Given the description of an element on the screen output the (x, y) to click on. 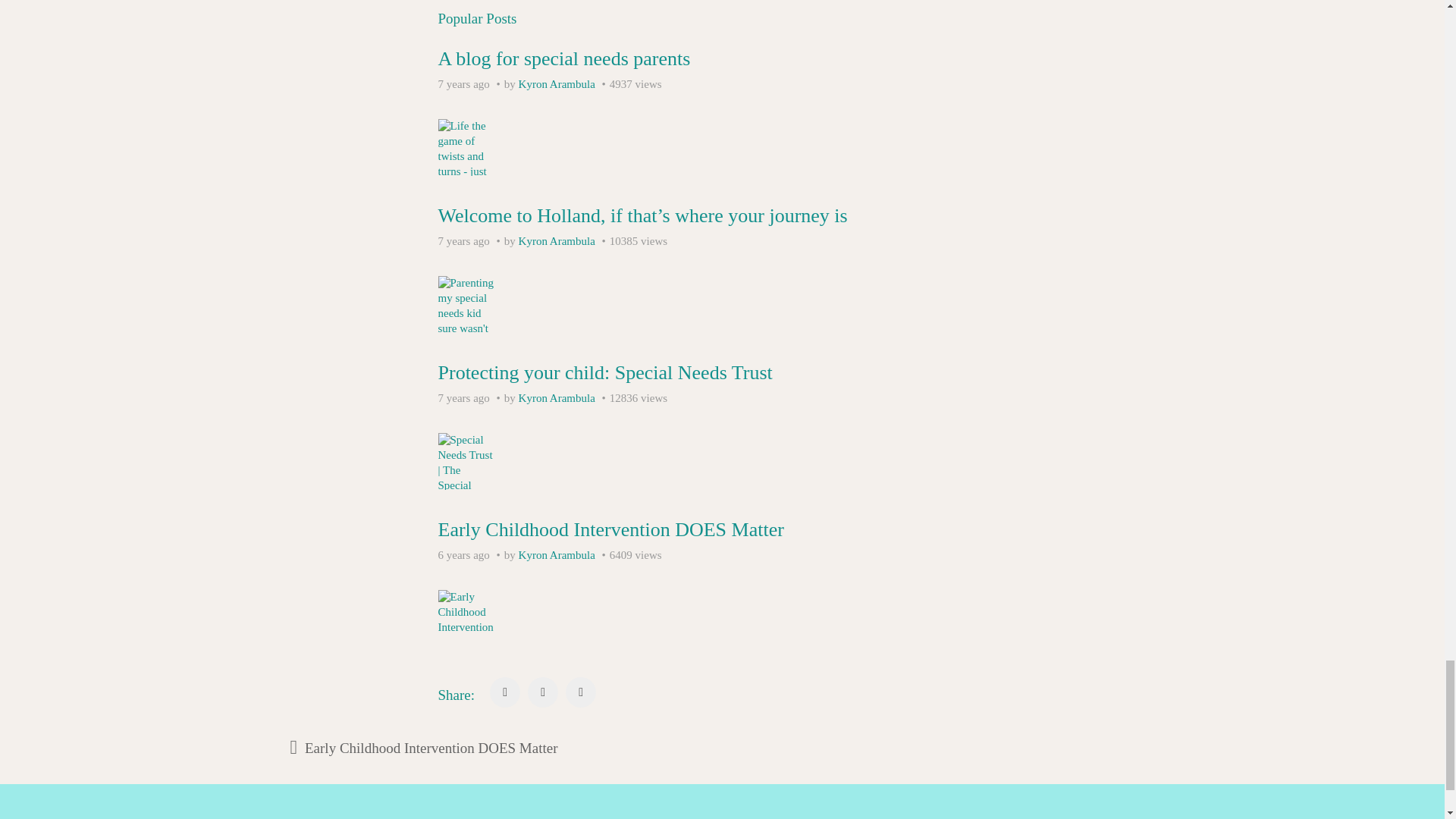
Kyron Arambula (556, 241)
A blog for special needs parents (564, 58)
Early Childhood Intervention DOES Matter (611, 529)
Protecting your child: Special Needs Trust (605, 372)
Kyron Arambula (556, 398)
Kyron Arambula (556, 83)
